Given the description of an element on the screen output the (x, y) to click on. 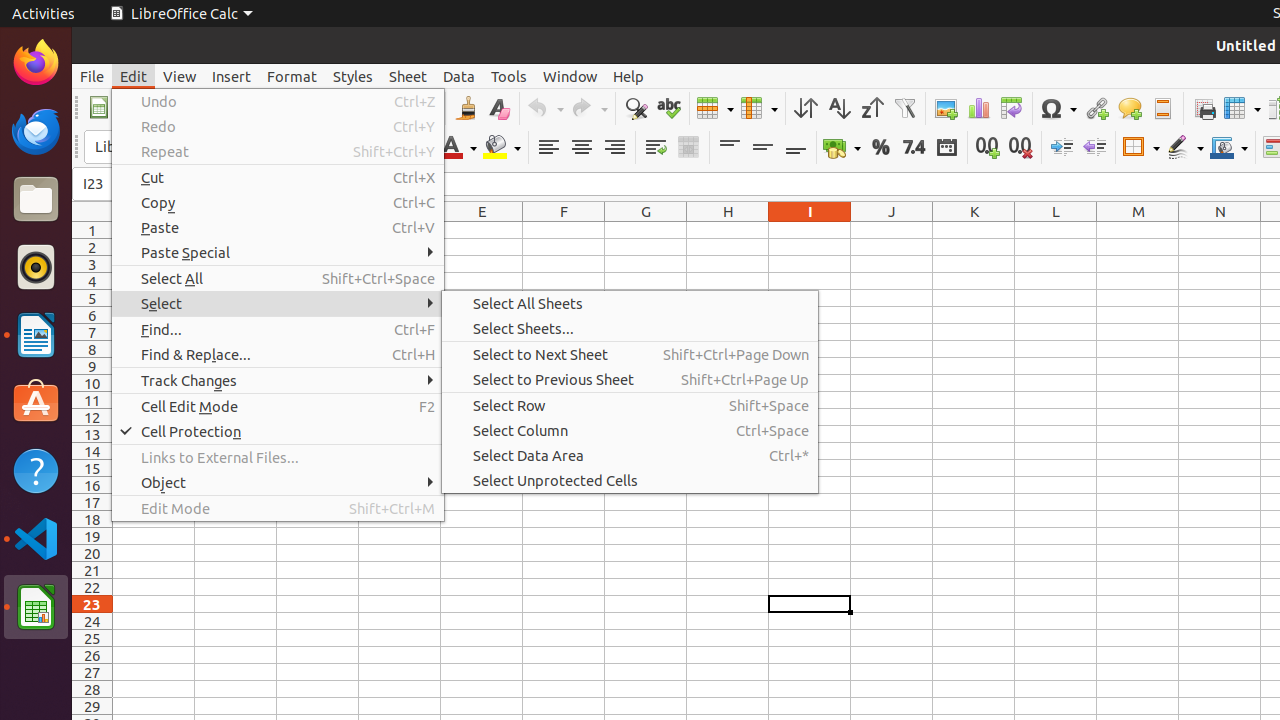
Select All Sheets Element type: menu-item (630, 303)
Cut Element type: menu-item (278, 177)
Tools Element type: menu (509, 76)
